Given the description of an element on the screen output the (x, y) to click on. 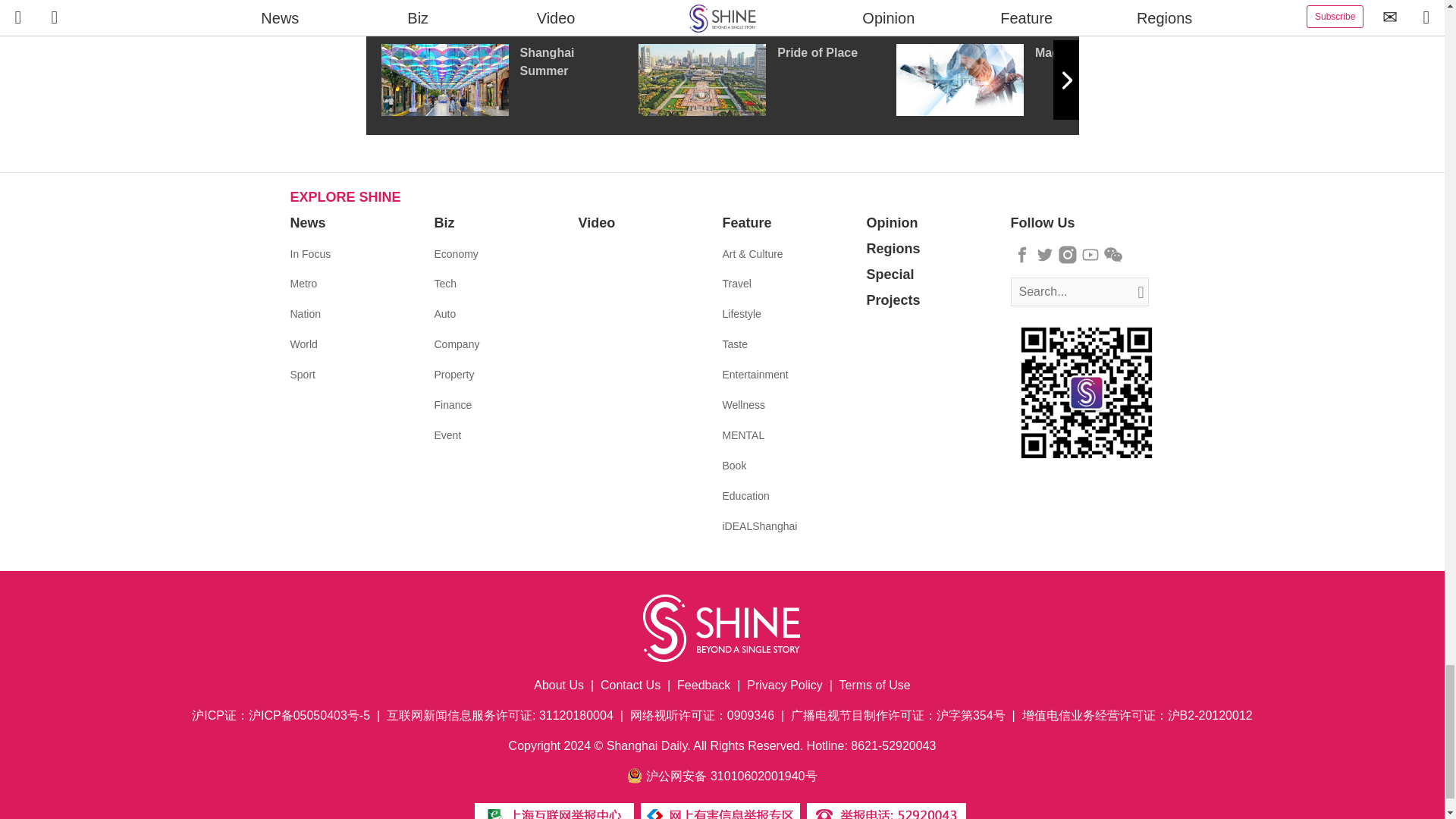
Follow us on Wechat (1112, 254)
Follow us on Twitter (1044, 254)
Follow us on Facebook (1021, 254)
Special Reports (721, 9)
Follow us on Instagram (1067, 254)
MagHub (1024, 79)
Shanghai Summer (508, 79)
Pride of Place (767, 79)
Follow us on Youtube (1090, 254)
